Given the description of an element on the screen output the (x, y) to click on. 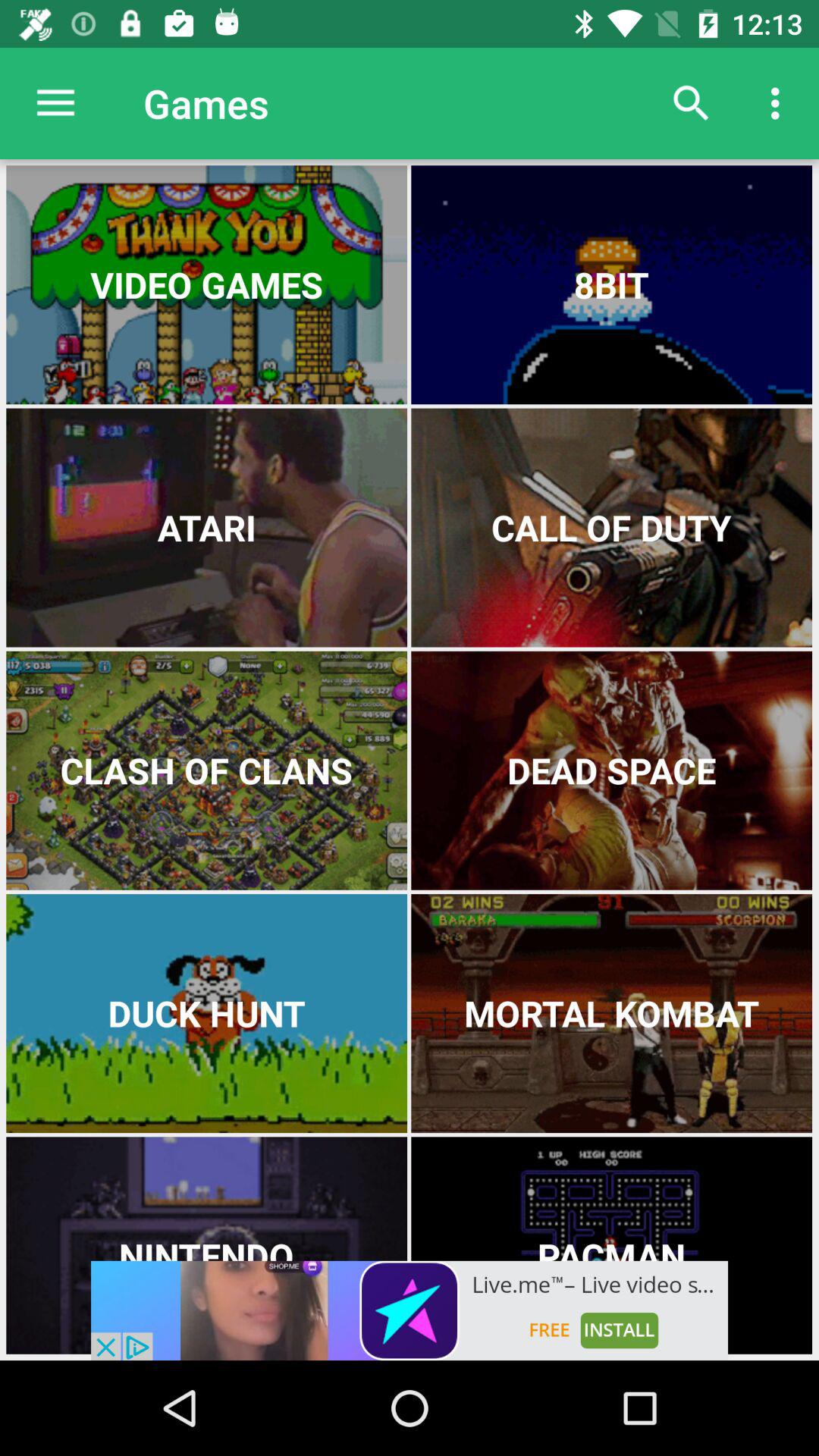
choose icon to the left of the games app (55, 103)
